Given the description of an element on the screen output the (x, y) to click on. 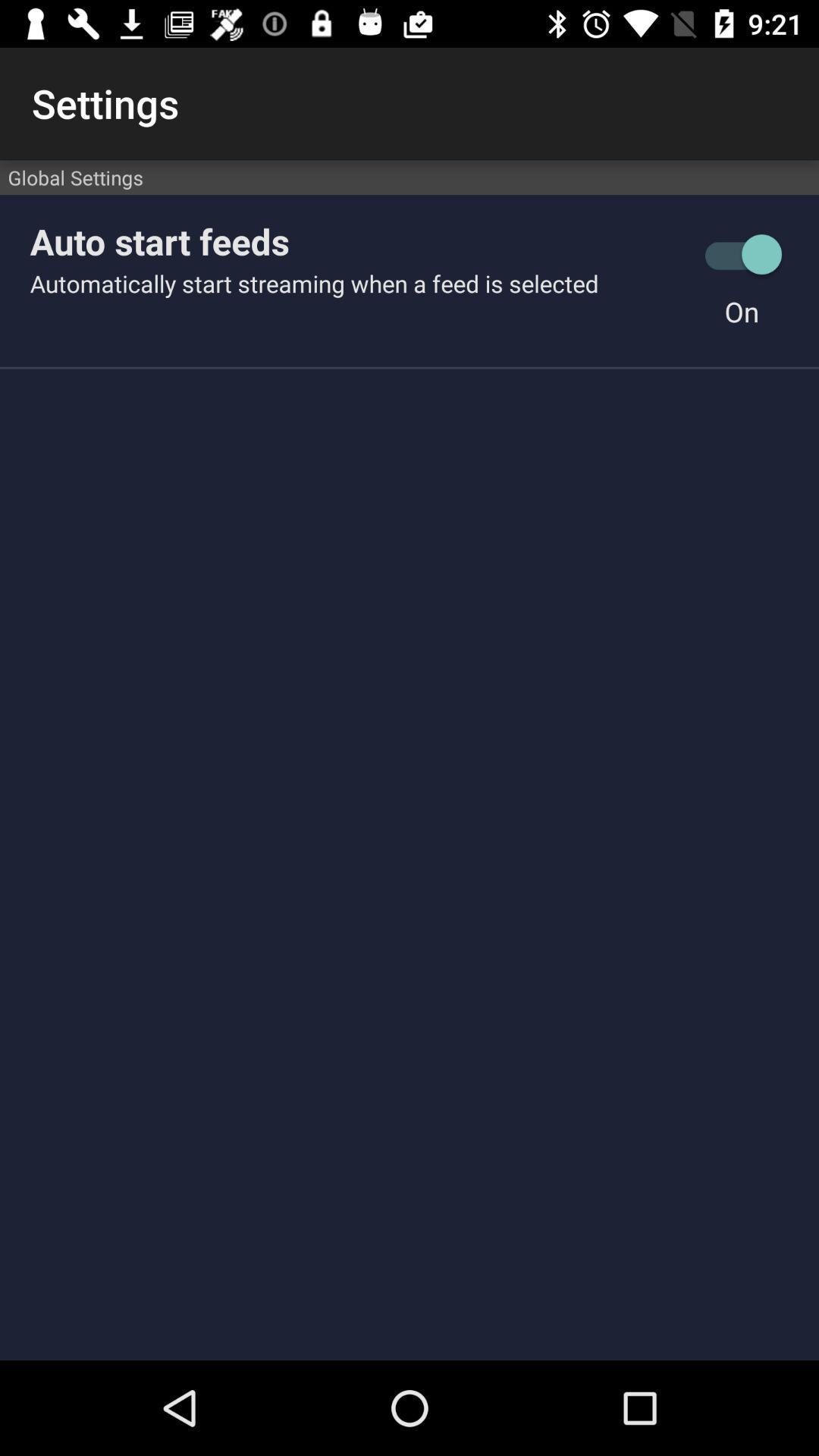
scroll to global settings icon (409, 177)
